Given the description of an element on the screen output the (x, y) to click on. 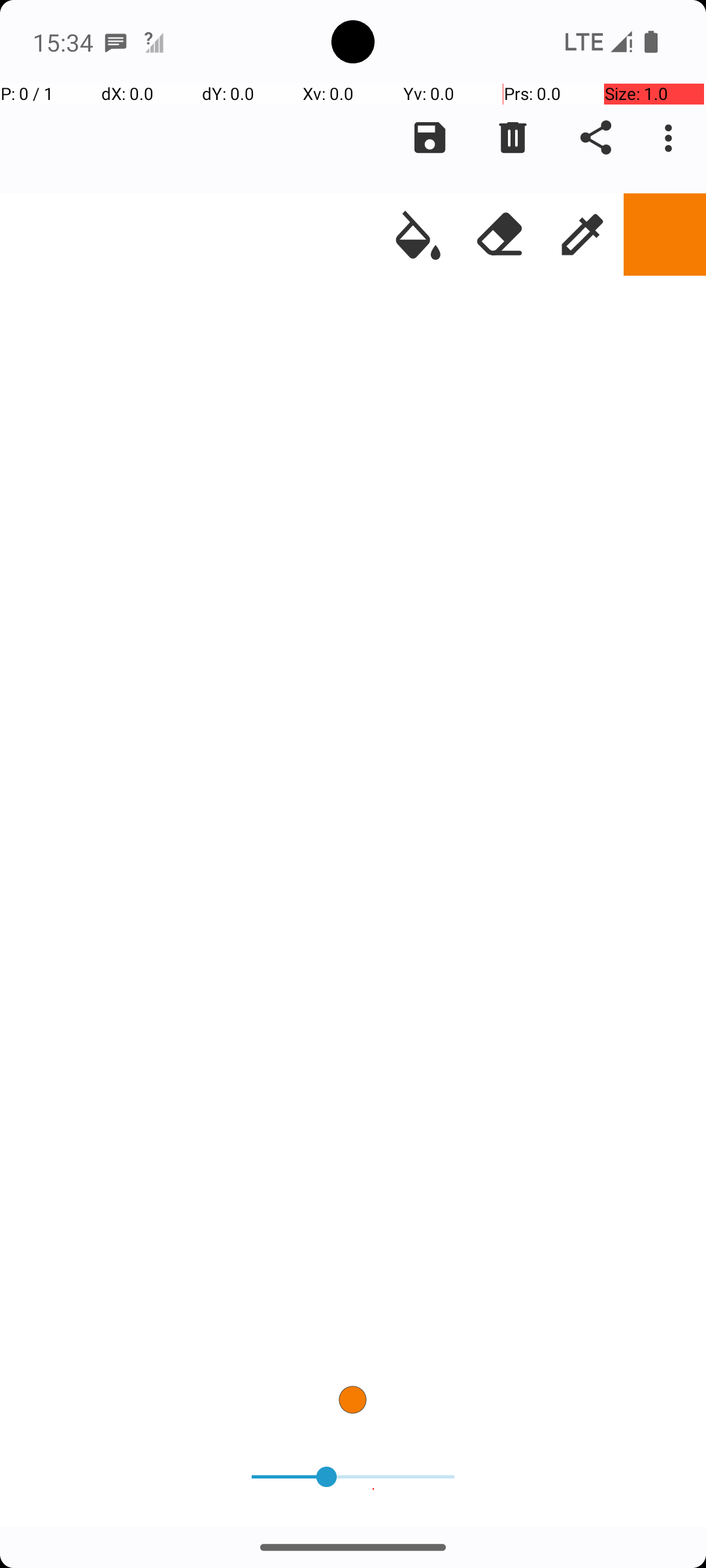
Bucket fill Element type: android.widget.ImageView (417, 234)
Eyedropper Element type: android.widget.ImageView (582, 234)
Change color Element type: android.widget.ImageView (664, 234)
